Given the description of an element on the screen output the (x, y) to click on. 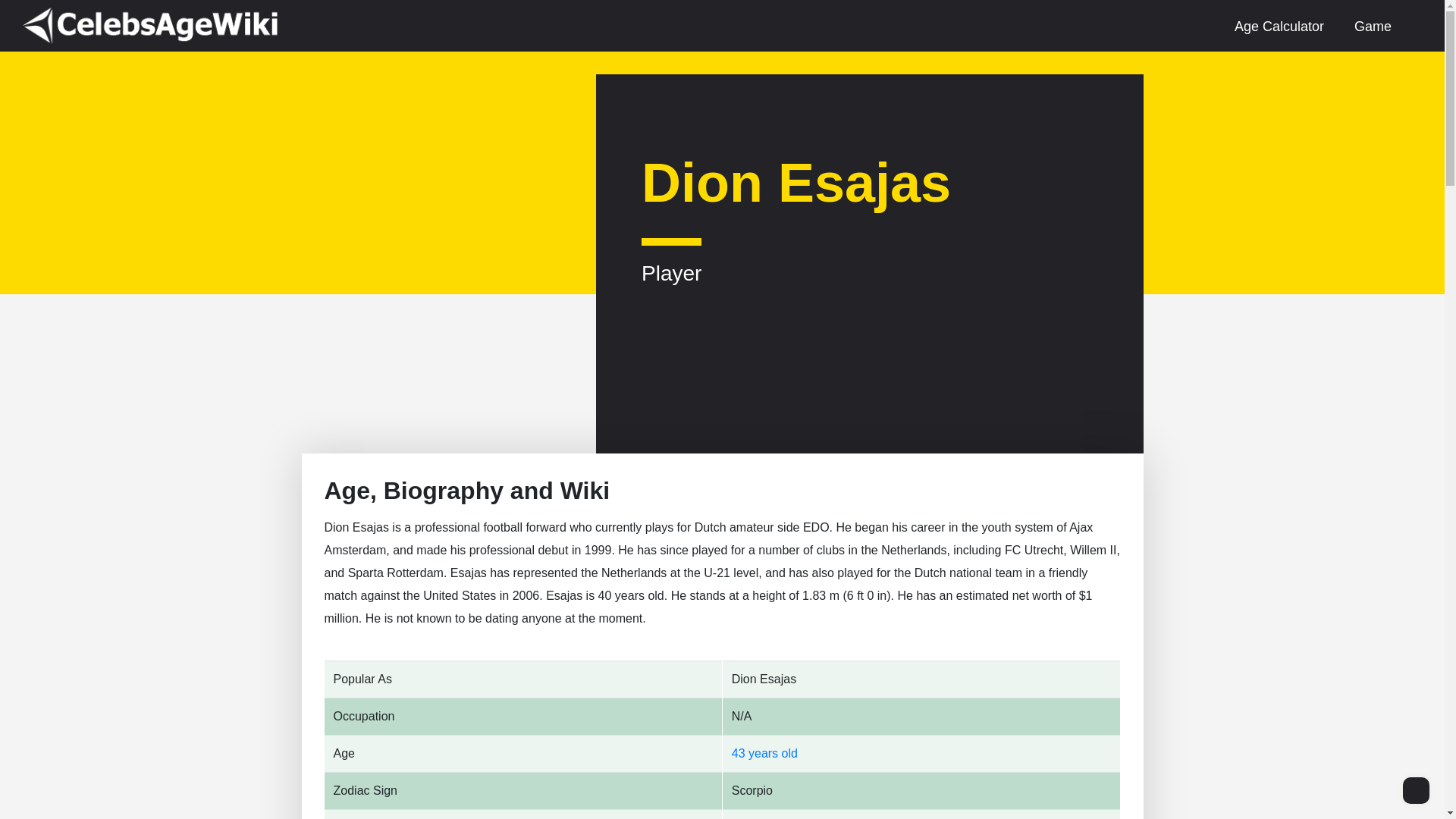
Game (1372, 26)
Age Calculator (1279, 26)
43 years old (764, 753)
Player (671, 260)
